Given the description of an element on the screen output the (x, y) to click on. 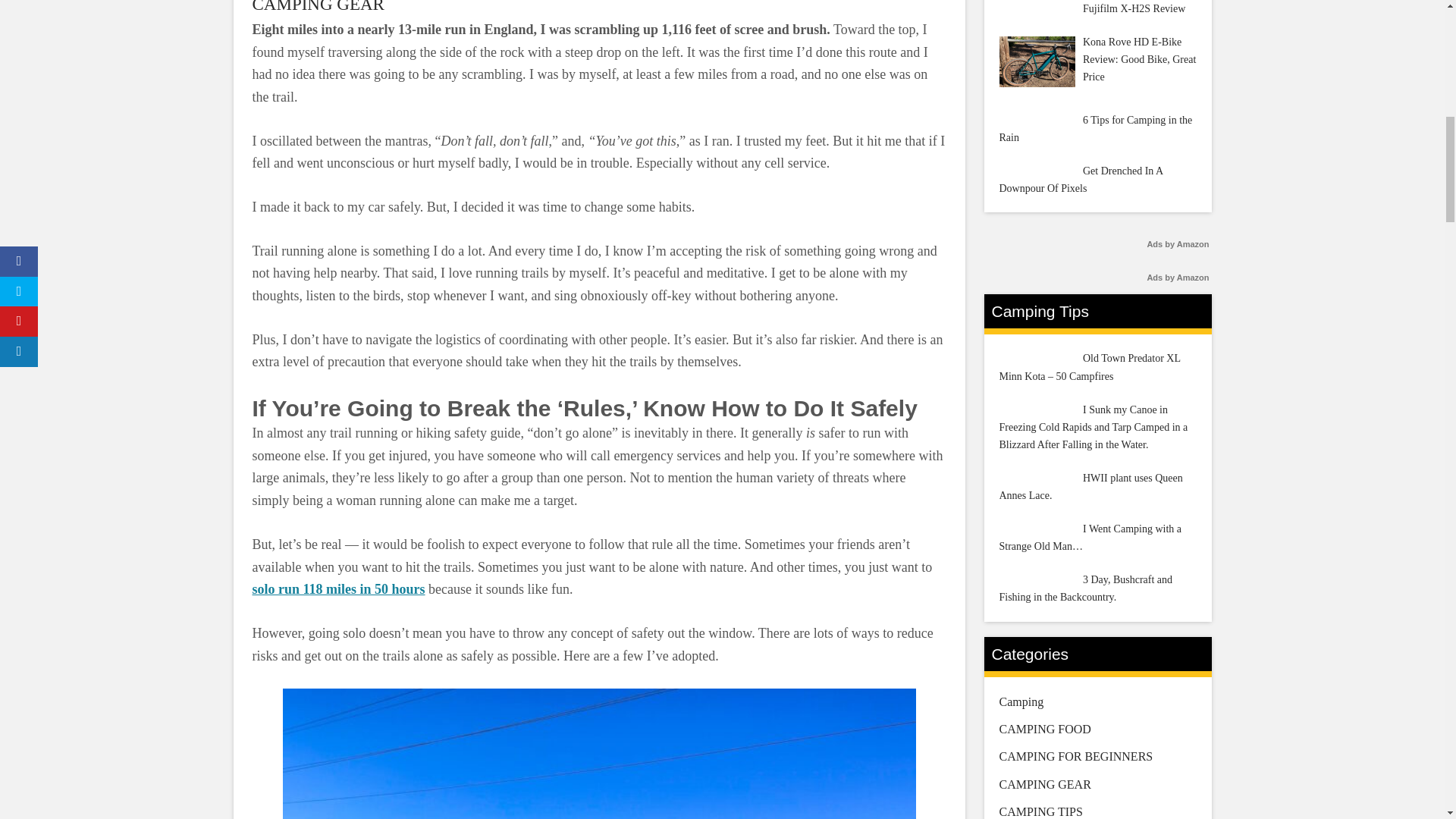
CAMPING GEAR (317, 6)
